Given the description of an element on the screen output the (x, y) to click on. 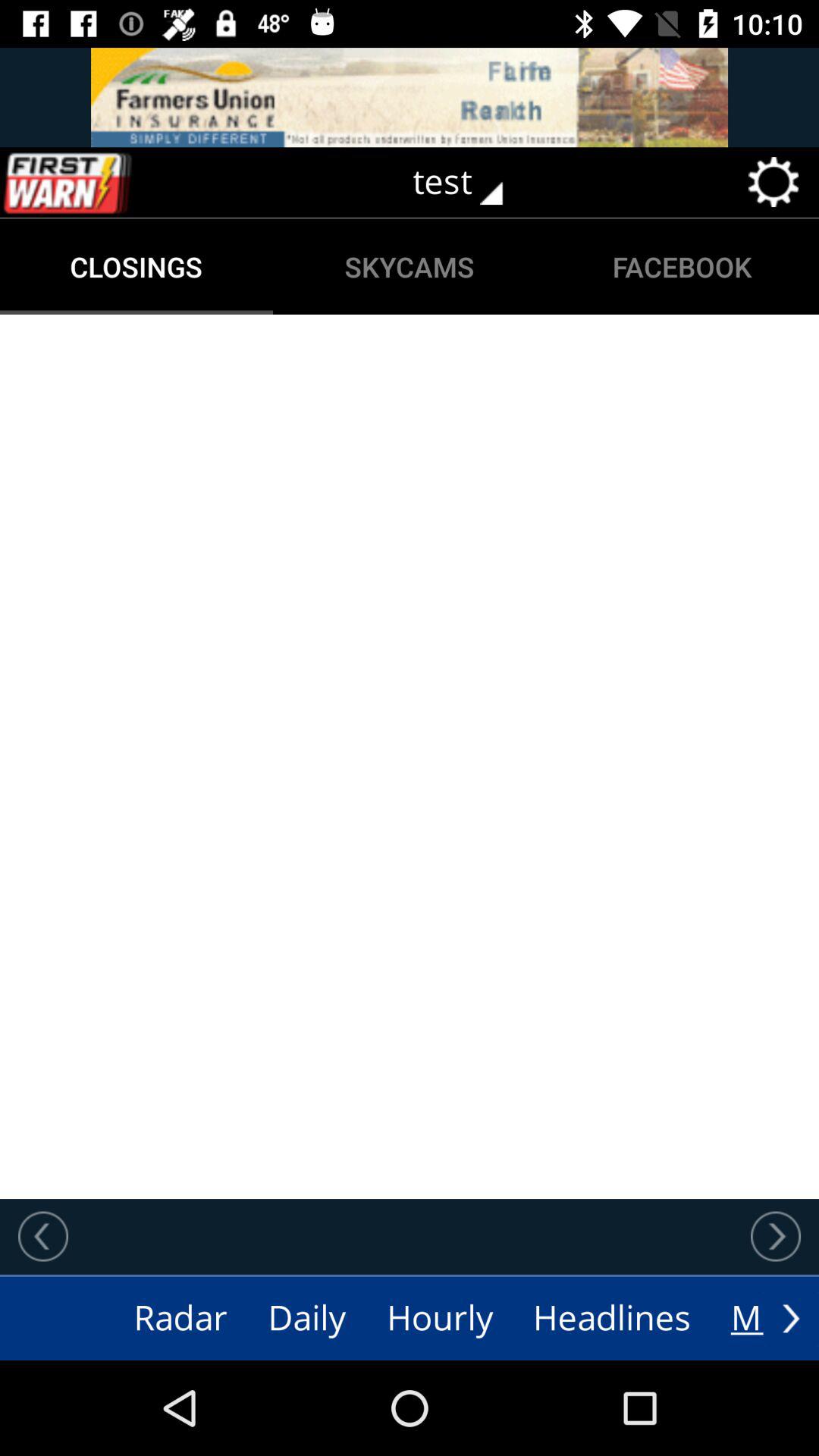
go to next (791, 1318)
